Given the description of an element on the screen output the (x, y) to click on. 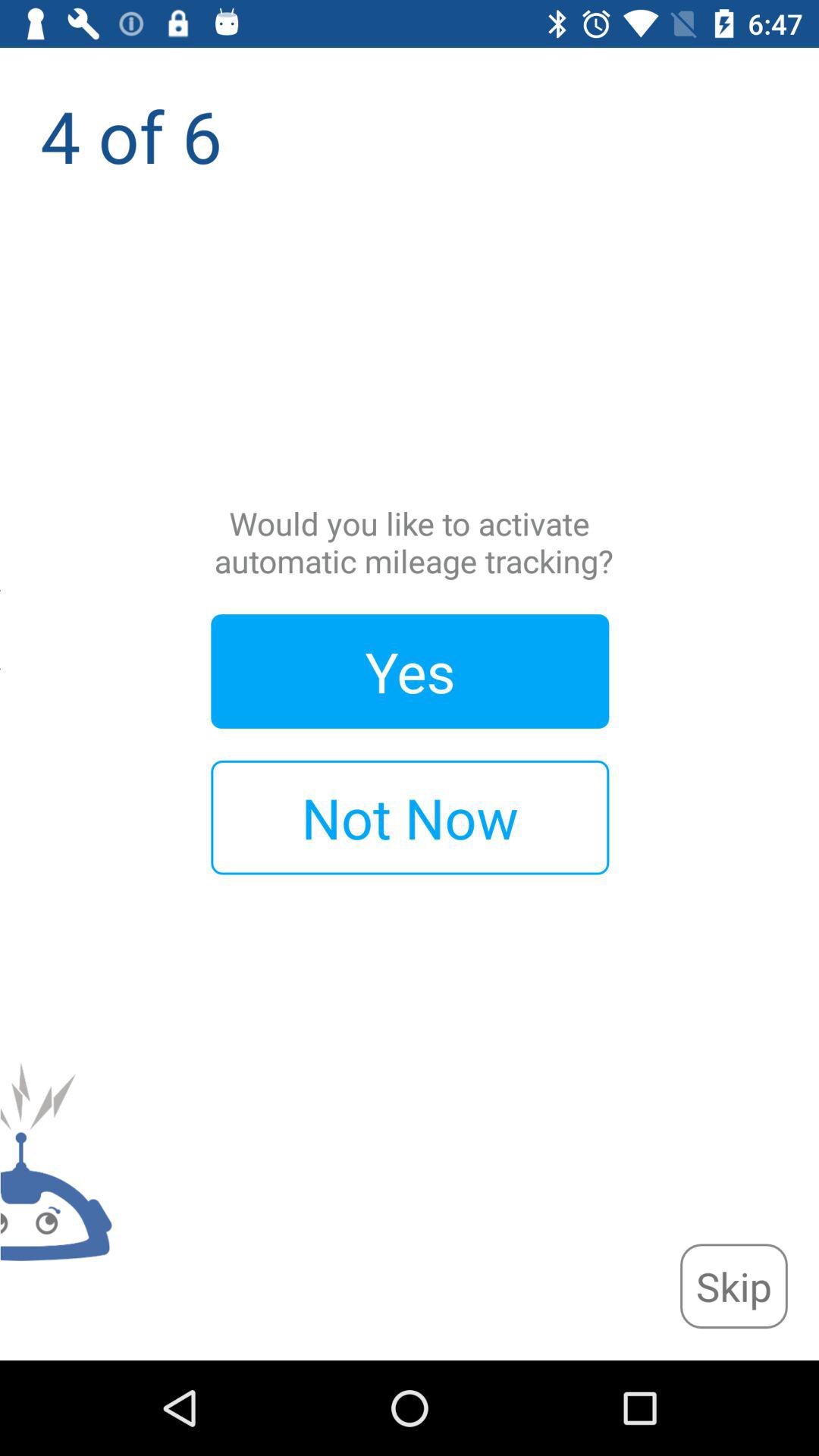
flip until yes item (409, 671)
